Given the description of an element on the screen output the (x, y) to click on. 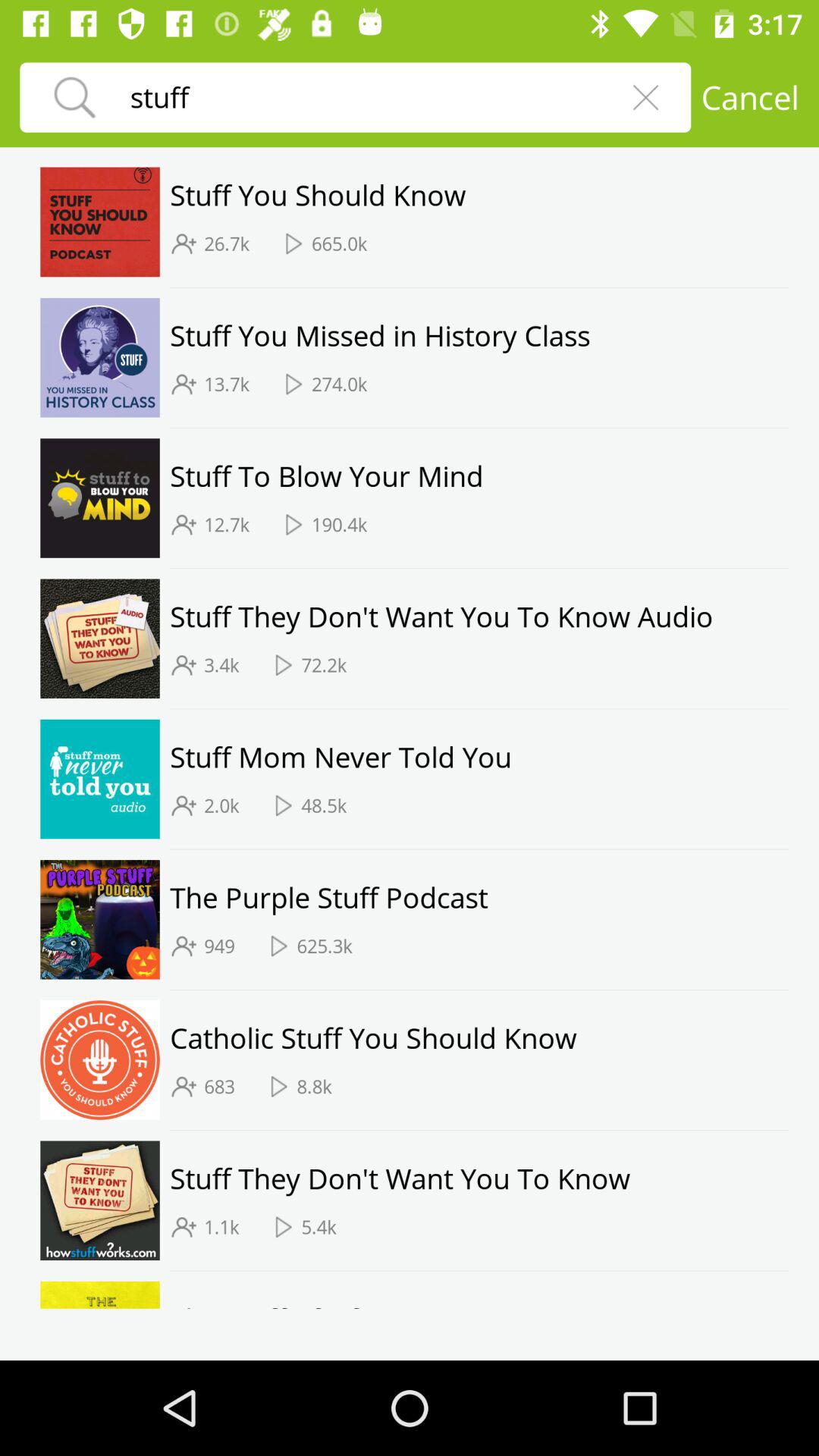
flip to 949 icon (219, 945)
